Given the description of an element on the screen output the (x, y) to click on. 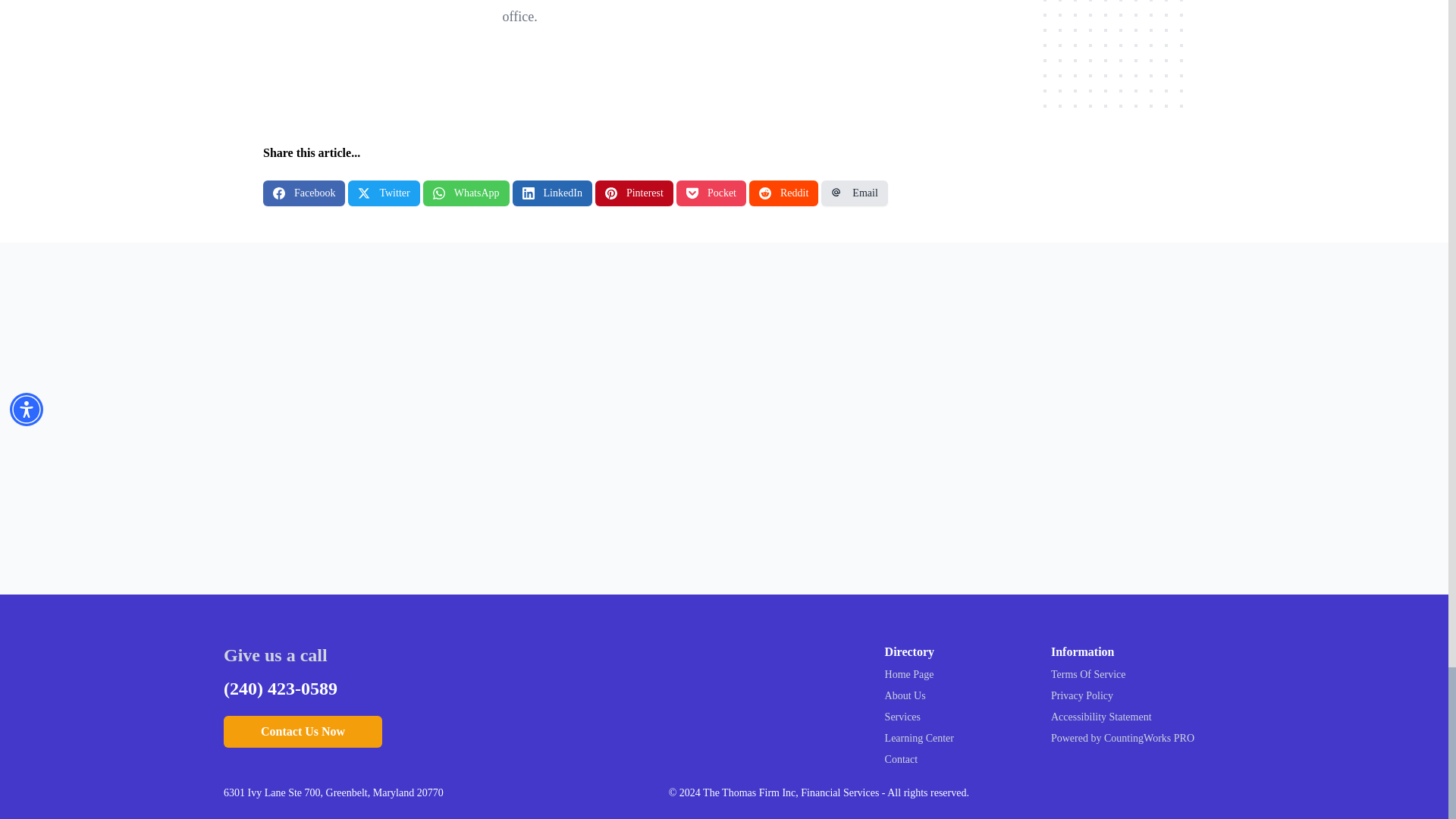
WhatsApp (466, 193)
Facebook (304, 193)
Twitter (383, 193)
